Given the description of an element on the screen output the (x, y) to click on. 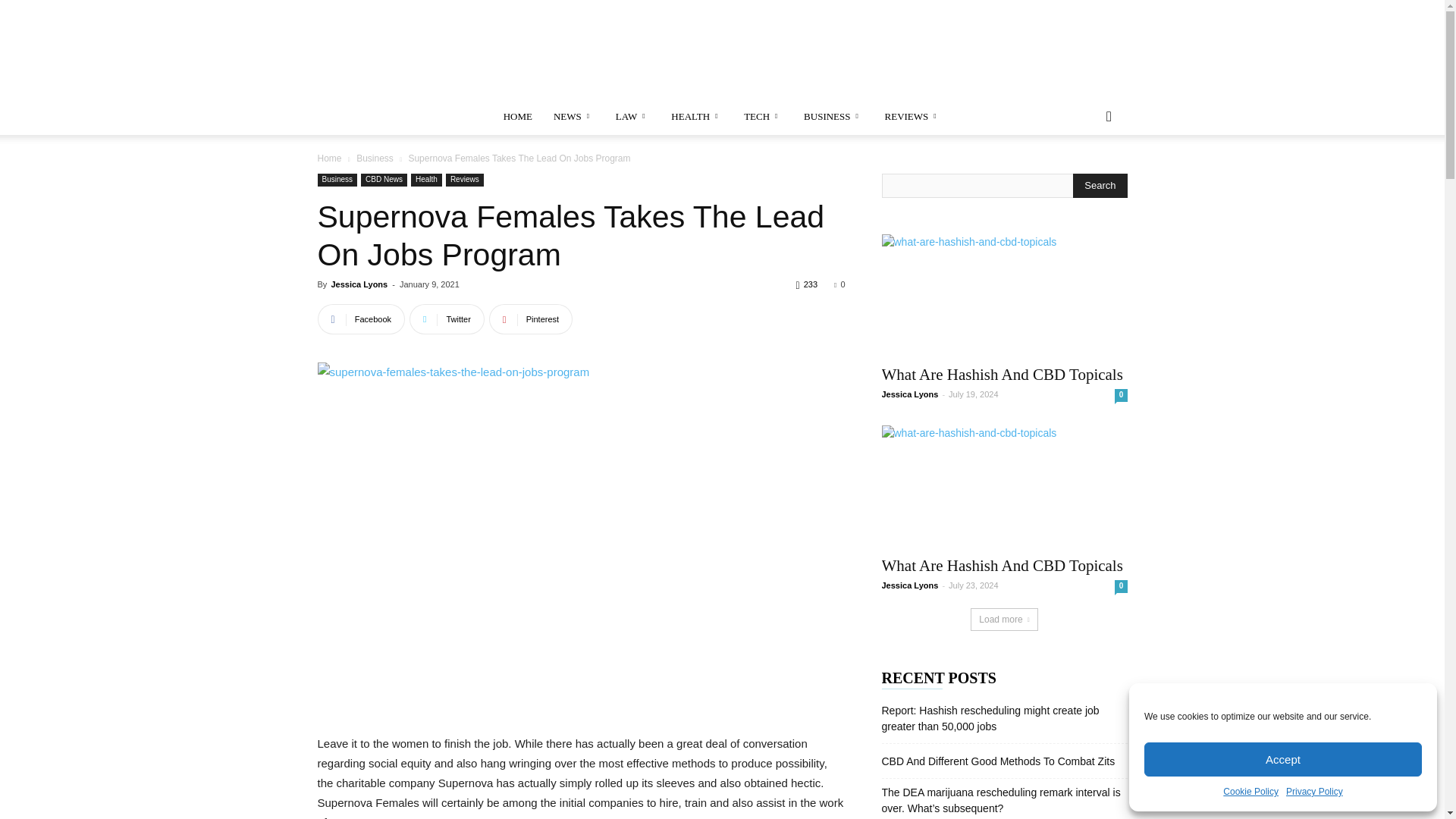
Privacy Policy (1313, 791)
Accept (1283, 759)
Cookie Policy (1250, 791)
NEWS (574, 116)
Search (1099, 185)
HOME (518, 116)
